Given the description of an element on the screen output the (x, y) to click on. 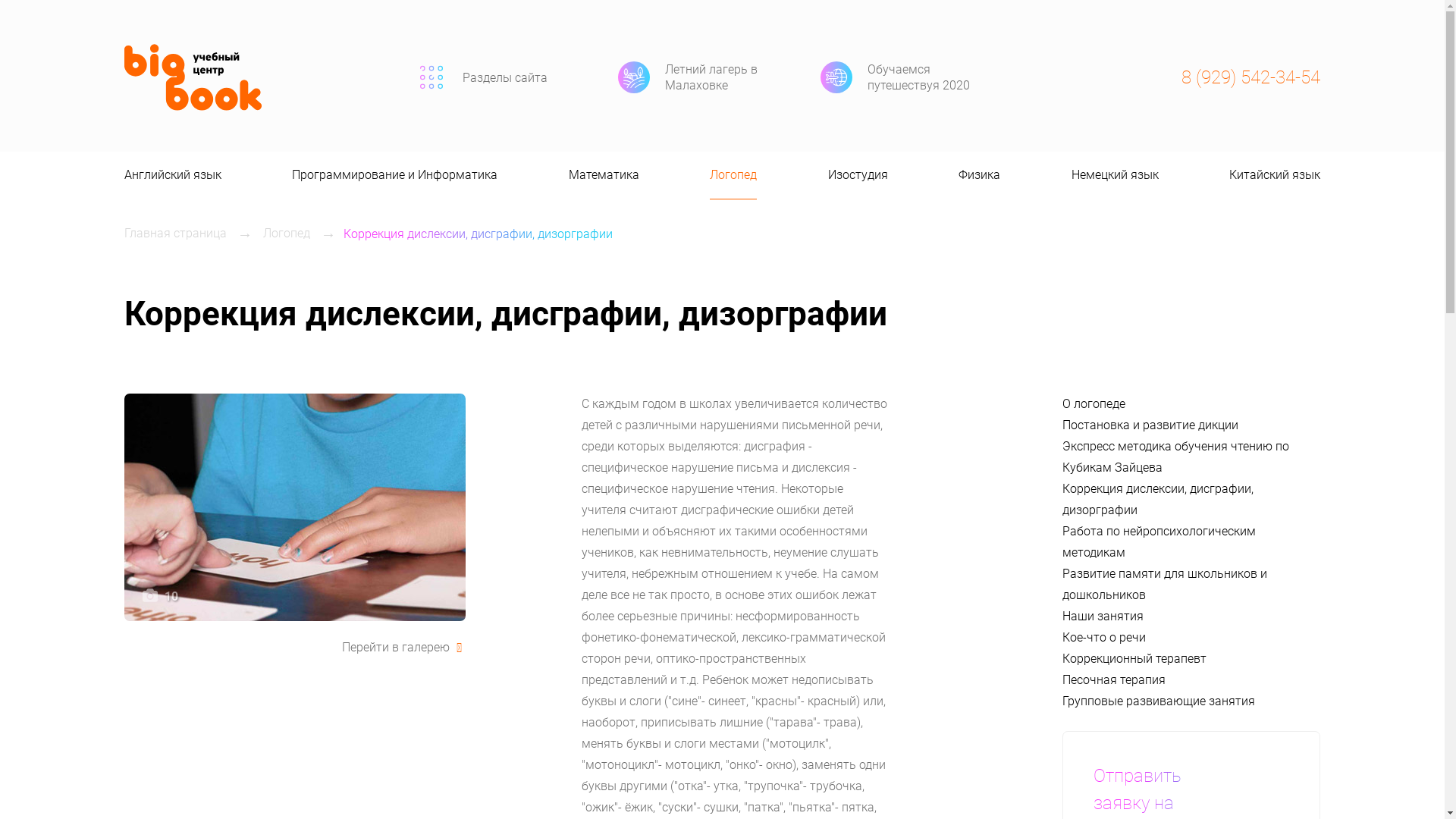
8 (929) 542-34-54 Element type: text (1250, 76)
